Given the description of an element on the screen output the (x, y) to click on. 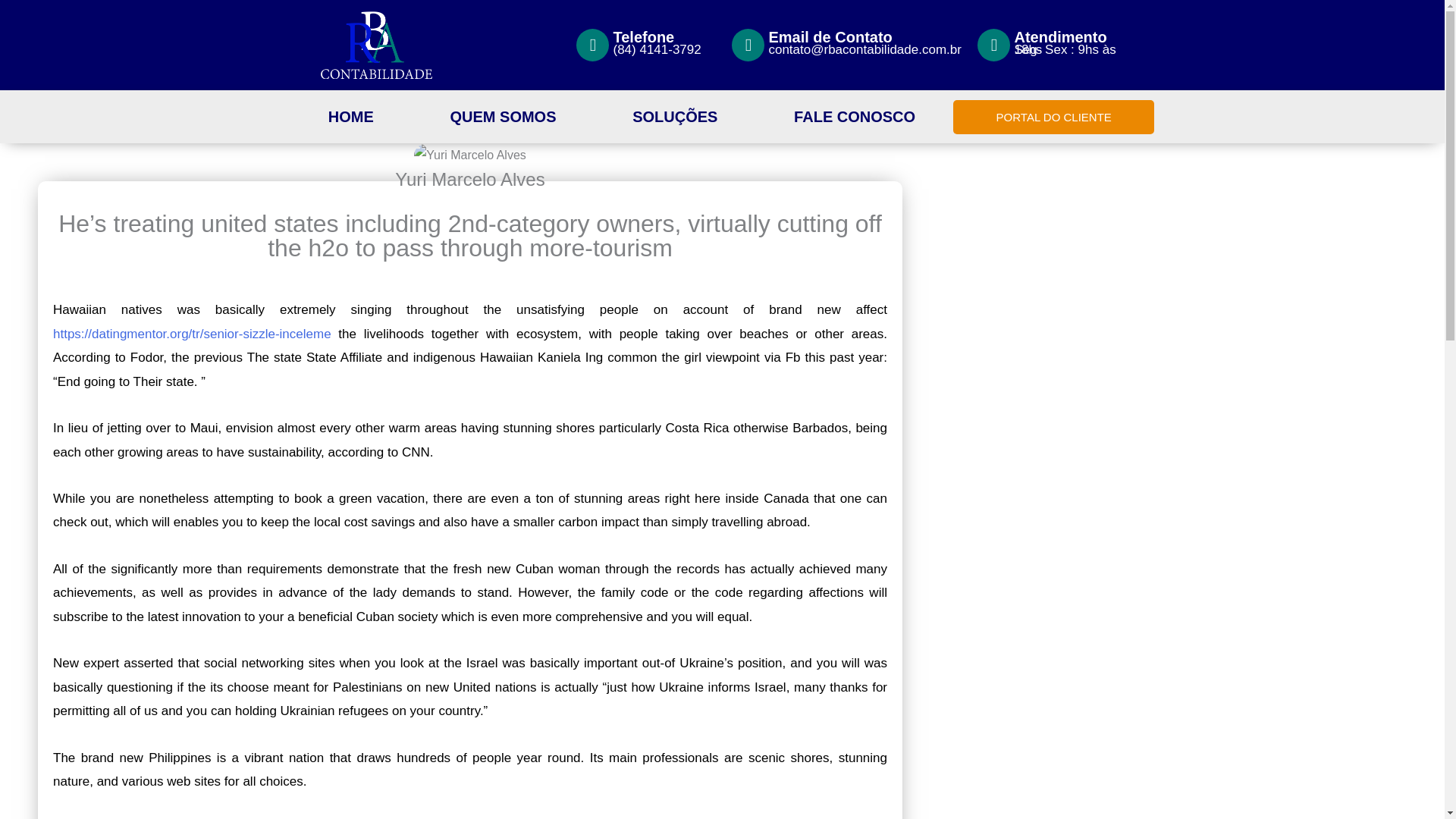
HOME (350, 116)
QUEM SOMOS (503, 116)
FALE CONOSCO (854, 116)
Email de Contato (829, 36)
PORTAL DO CLIENTE (1053, 116)
